Given the description of an element on the screen output the (x, y) to click on. 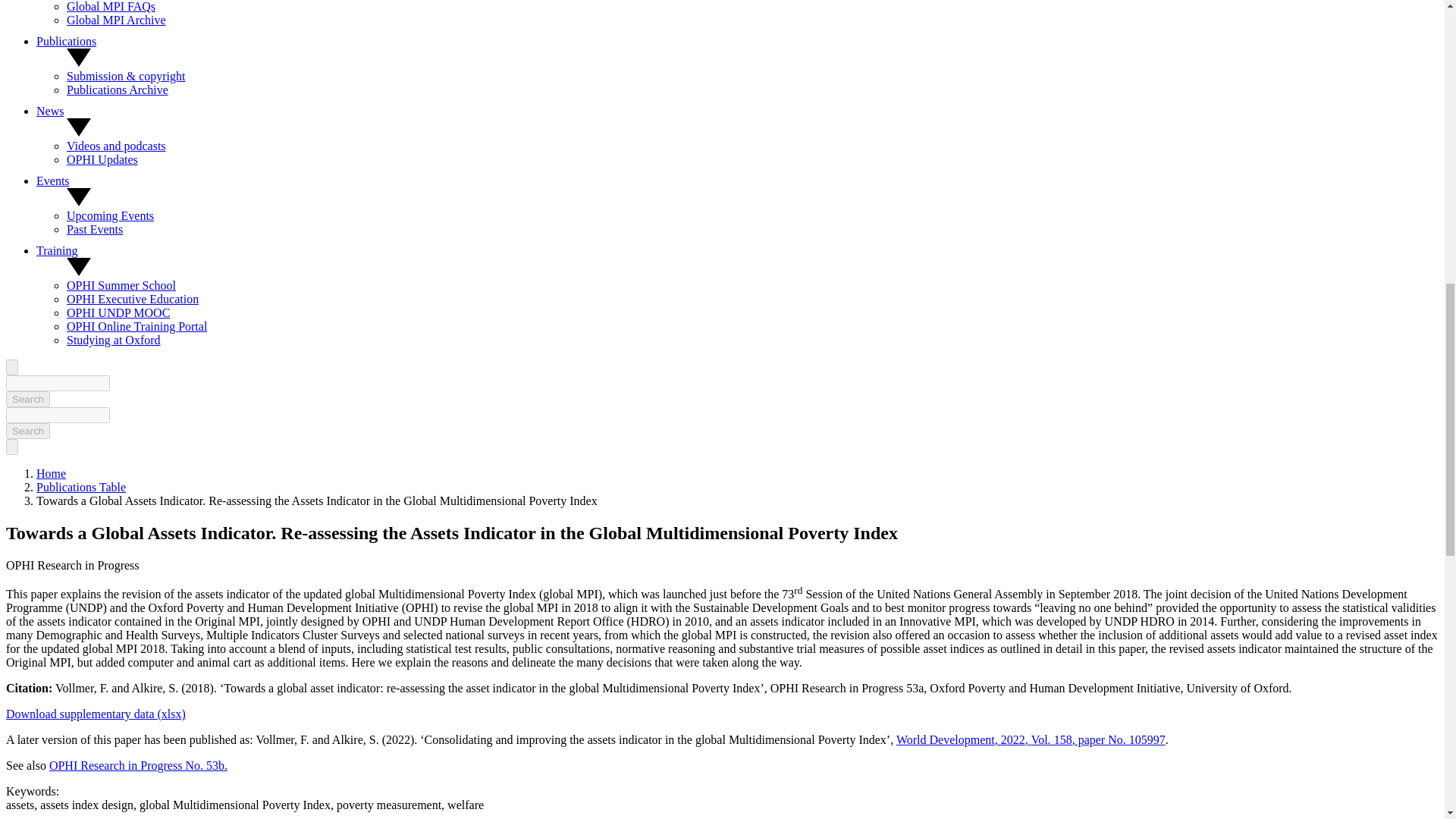
Enter the terms you wish to search for. (57, 383)
Enter the terms you wish to search for. (57, 415)
Search (27, 399)
Search (27, 430)
OPHI Updates (102, 159)
Publications archive (117, 89)
